Given the description of an element on the screen output the (x, y) to click on. 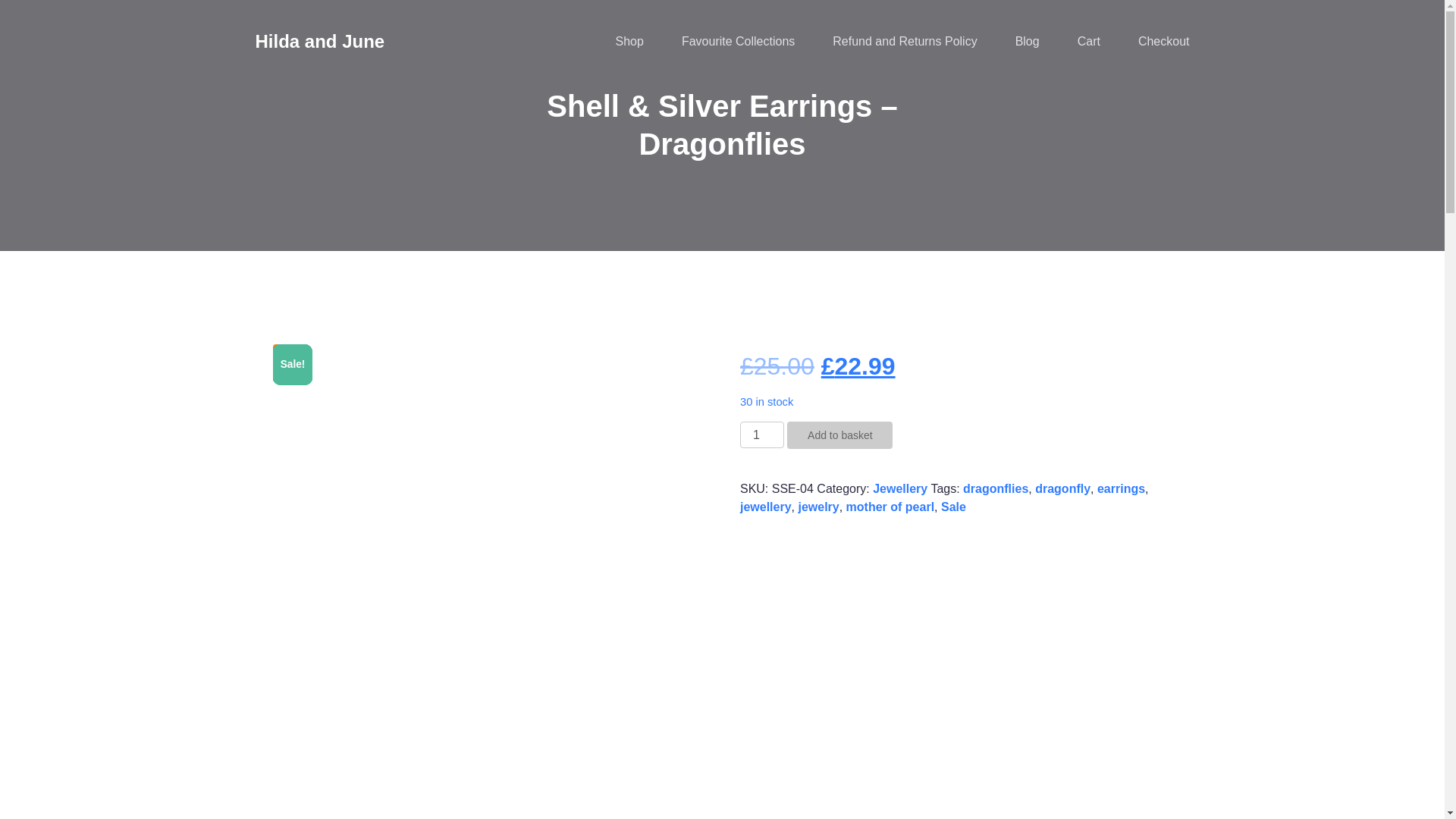
mother of pearl (889, 506)
Hilda and June (319, 41)
Sale (953, 506)
Refund and Returns Policy (904, 41)
dragonflies (994, 488)
Jewellery (899, 488)
earrings (1120, 488)
jewelry (817, 506)
jewellery (765, 506)
Checkout (1163, 41)
